Given the description of an element on the screen output the (x, y) to click on. 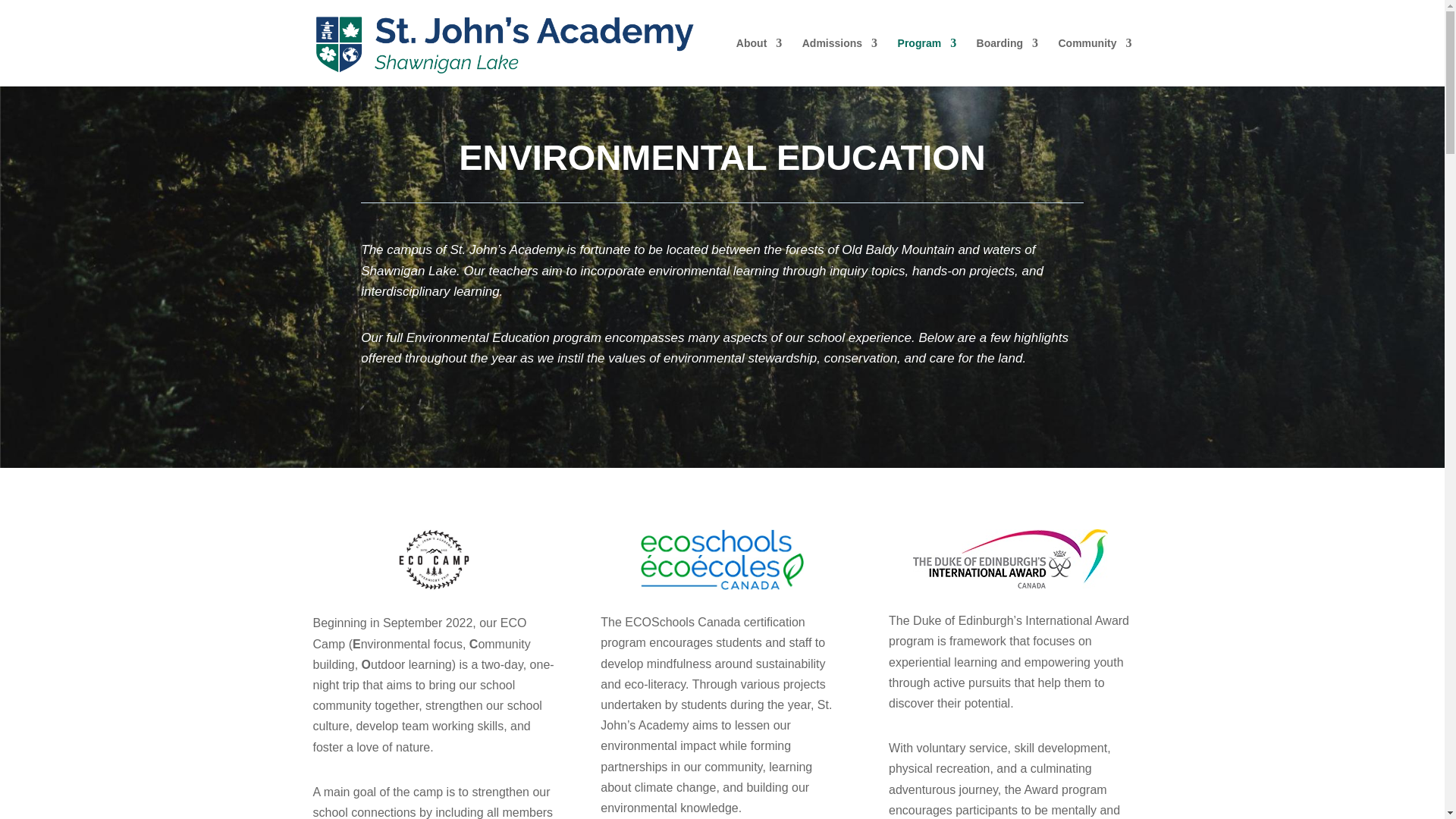
Boarding (1007, 61)
Admissions (839, 61)
Community (1095, 61)
About (758, 61)
DOE (1010, 558)
eco schools (721, 559)
eco camp (433, 559)
Program (927, 61)
